Given the description of an element on the screen output the (x, y) to click on. 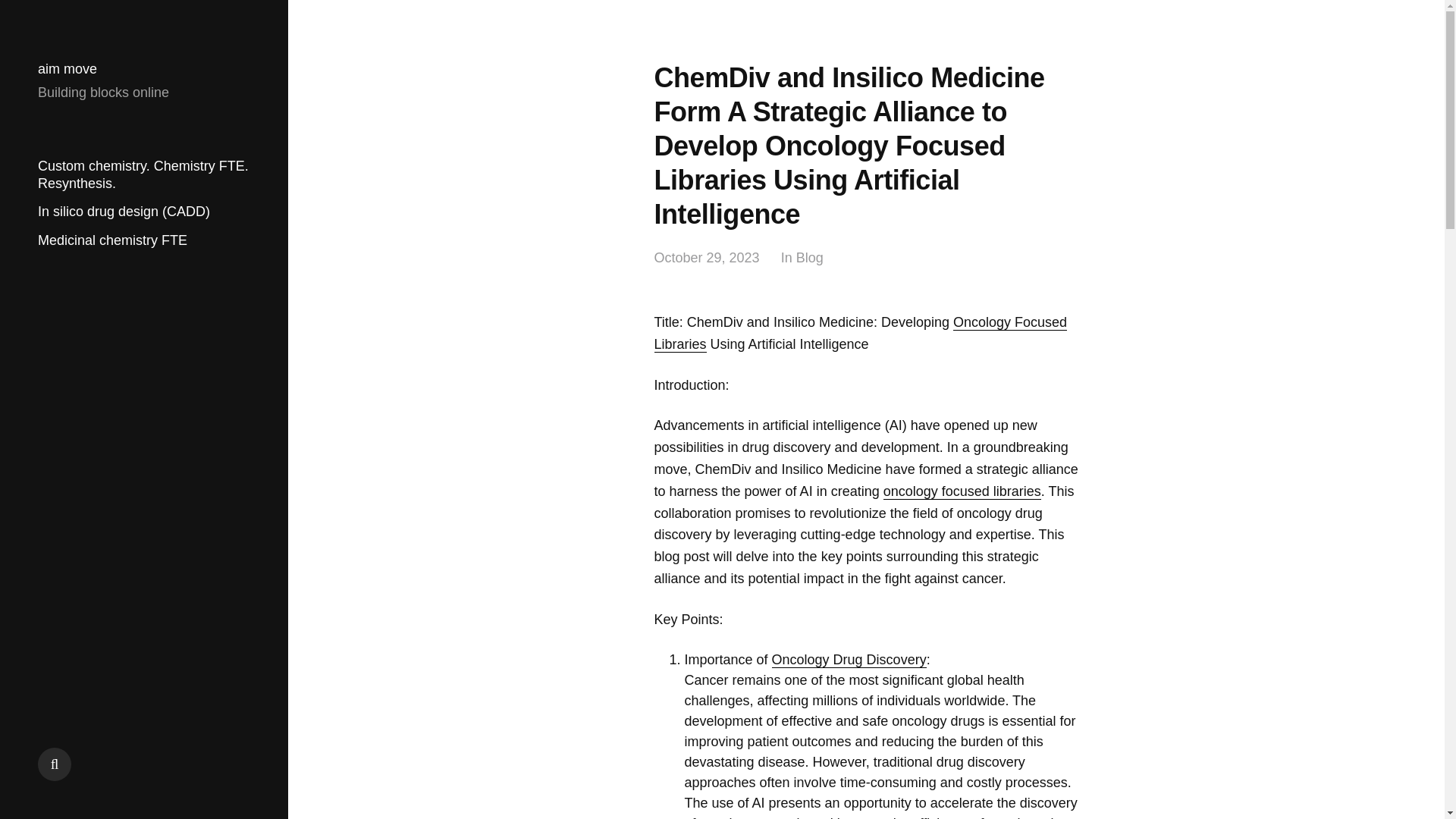
Blog (810, 258)
Oncology Focused Libraries (860, 333)
October 29, 2023 (705, 258)
Oncology Drug Discovery (848, 659)
Custom chemistry. Chemistry FTE. Resynthesis. (142, 174)
oncology focused libraries (962, 491)
aim move (67, 68)
Medicinal chemistry FTE (112, 239)
